Given the description of an element on the screen output the (x, y) to click on. 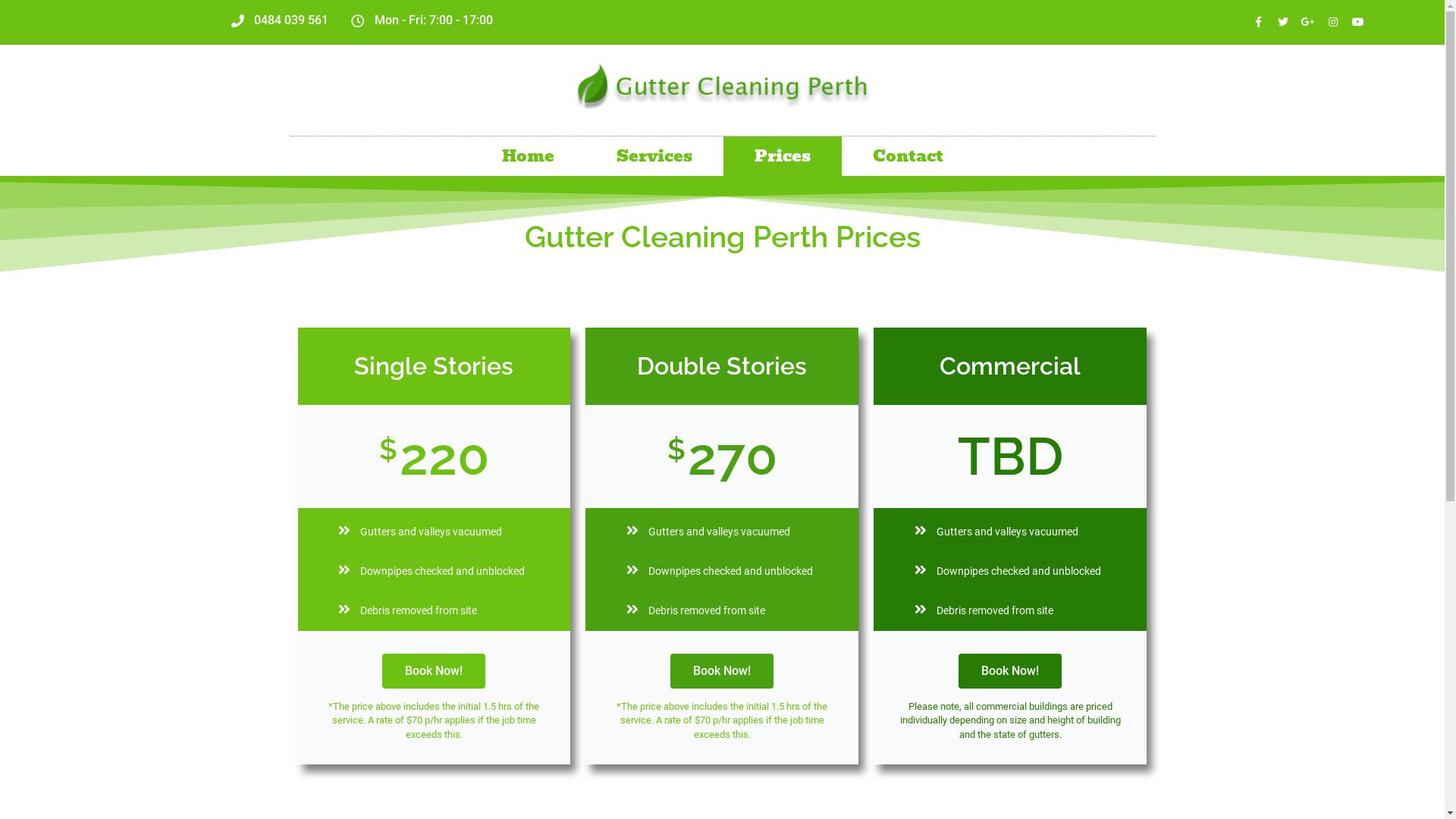
Book Now! Element type: text (433, 670)
Book Now! Element type: text (721, 670)
cropped-Gutter-Cleaning-Perth.png Element type: hover (721, 82)
Prices Element type: text (782, 155)
Home Element type: text (527, 155)
Services Element type: text (654, 155)
Book Now! Element type: text (1009, 670)
Contact Element type: text (907, 155)
